Given the description of an element on the screen output the (x, y) to click on. 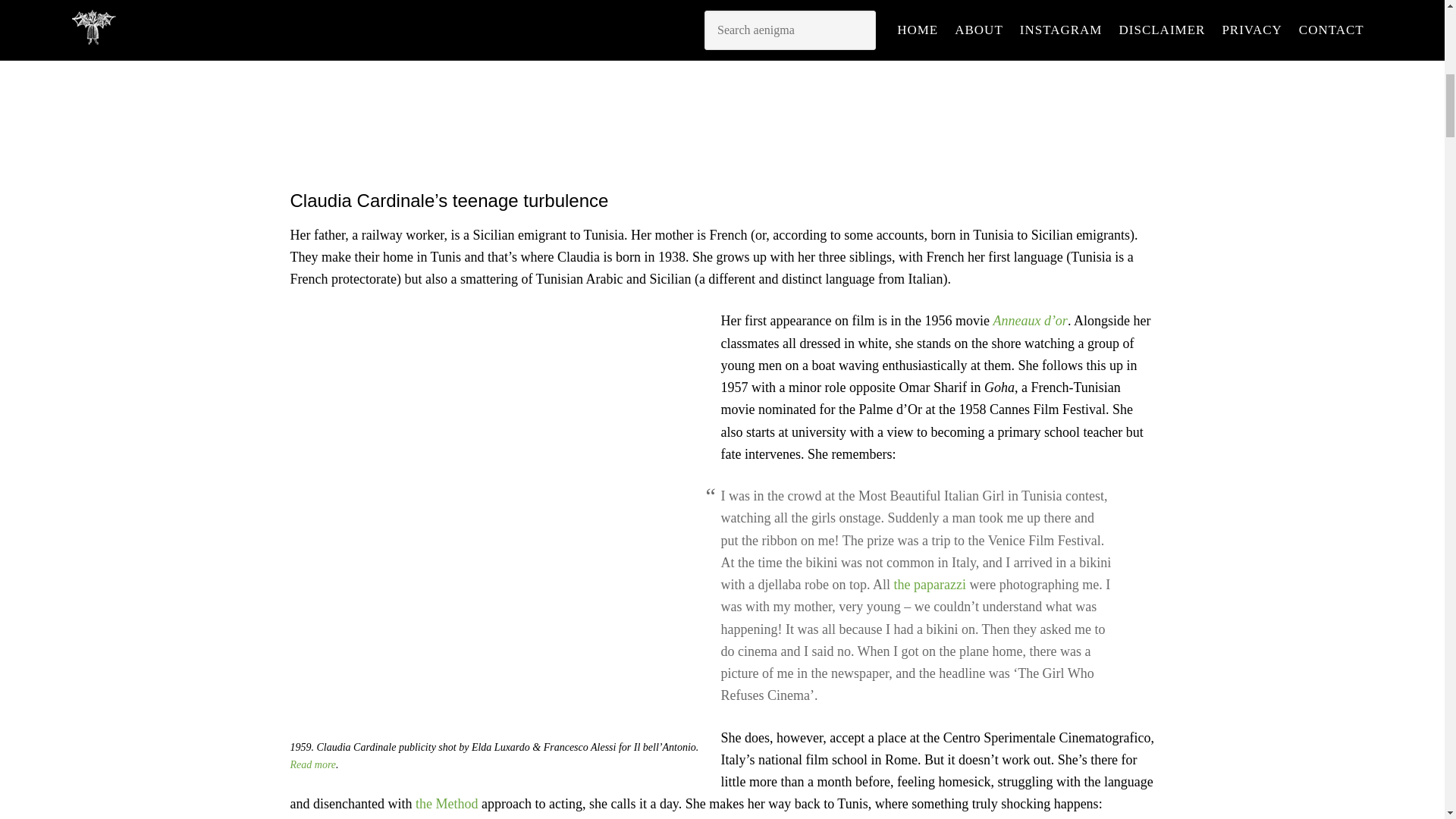
the Method (446, 803)
the paparazzi (929, 584)
Read more (312, 764)
